Given the description of an element on the screen output the (x, y) to click on. 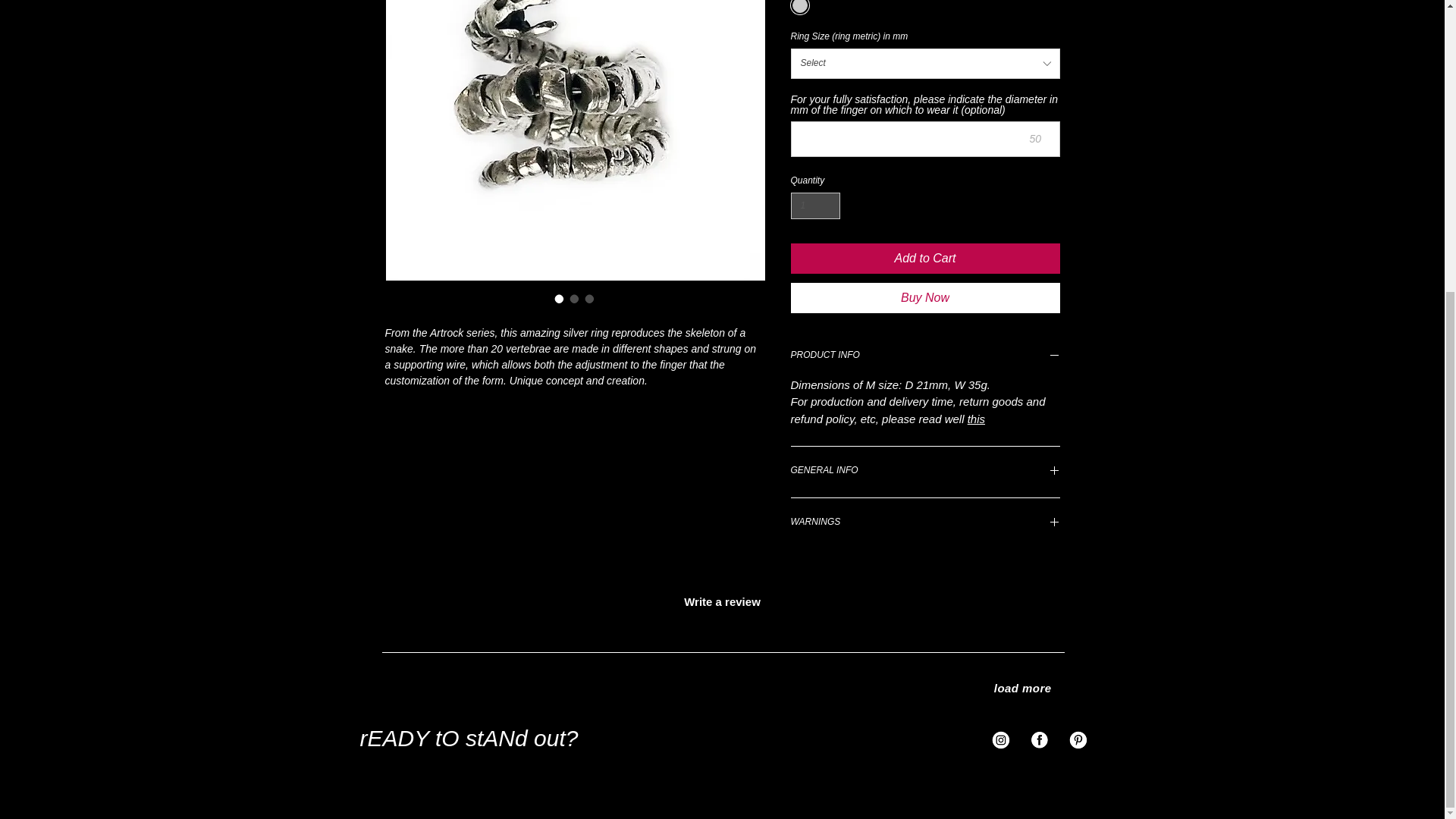
Buy Now (924, 297)
1 (815, 205)
PRODUCT INFO (924, 356)
GENERAL INFO (924, 472)
this (976, 418)
Select (924, 63)
WARNINGS (924, 523)
Add to Cart (924, 258)
Write a review (721, 601)
